Given the description of an element on the screen output the (x, y) to click on. 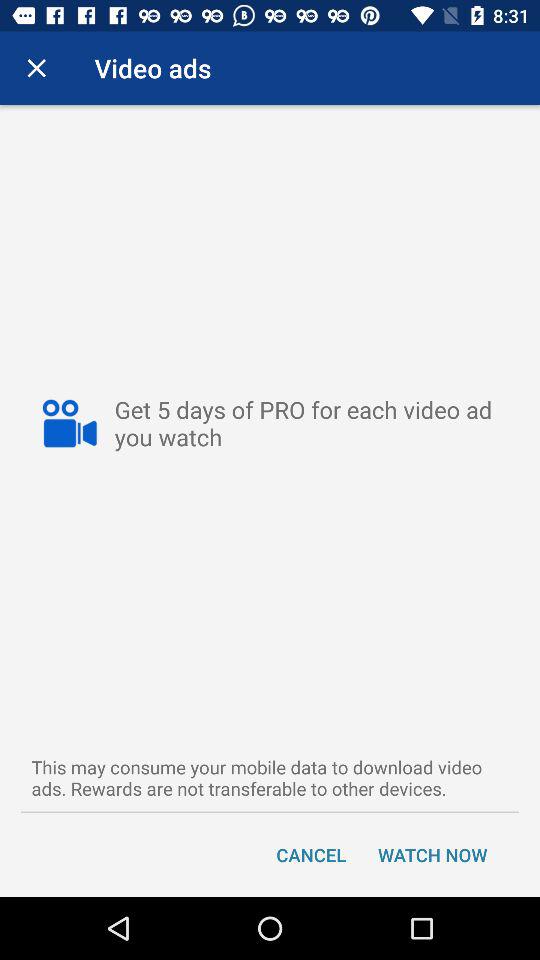
press the item next to the video ads item (36, 68)
